Given the description of an element on the screen output the (x, y) to click on. 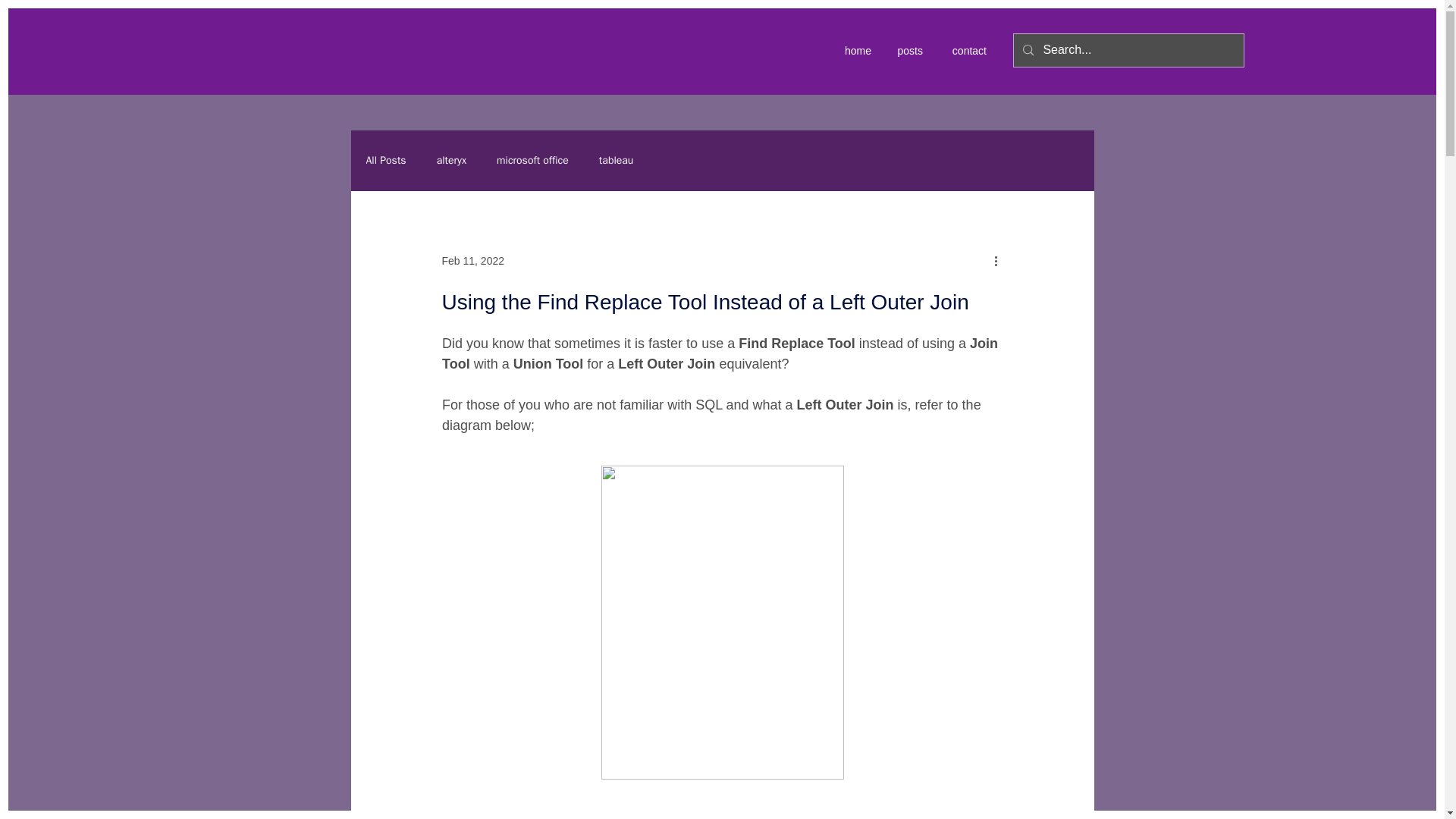
contact (965, 50)
home (855, 50)
alteryx (450, 160)
All Posts (385, 160)
Feb 11, 2022 (472, 260)
tableau (615, 160)
microsoft office (532, 160)
posts (908, 50)
